Given the description of an element on the screen output the (x, y) to click on. 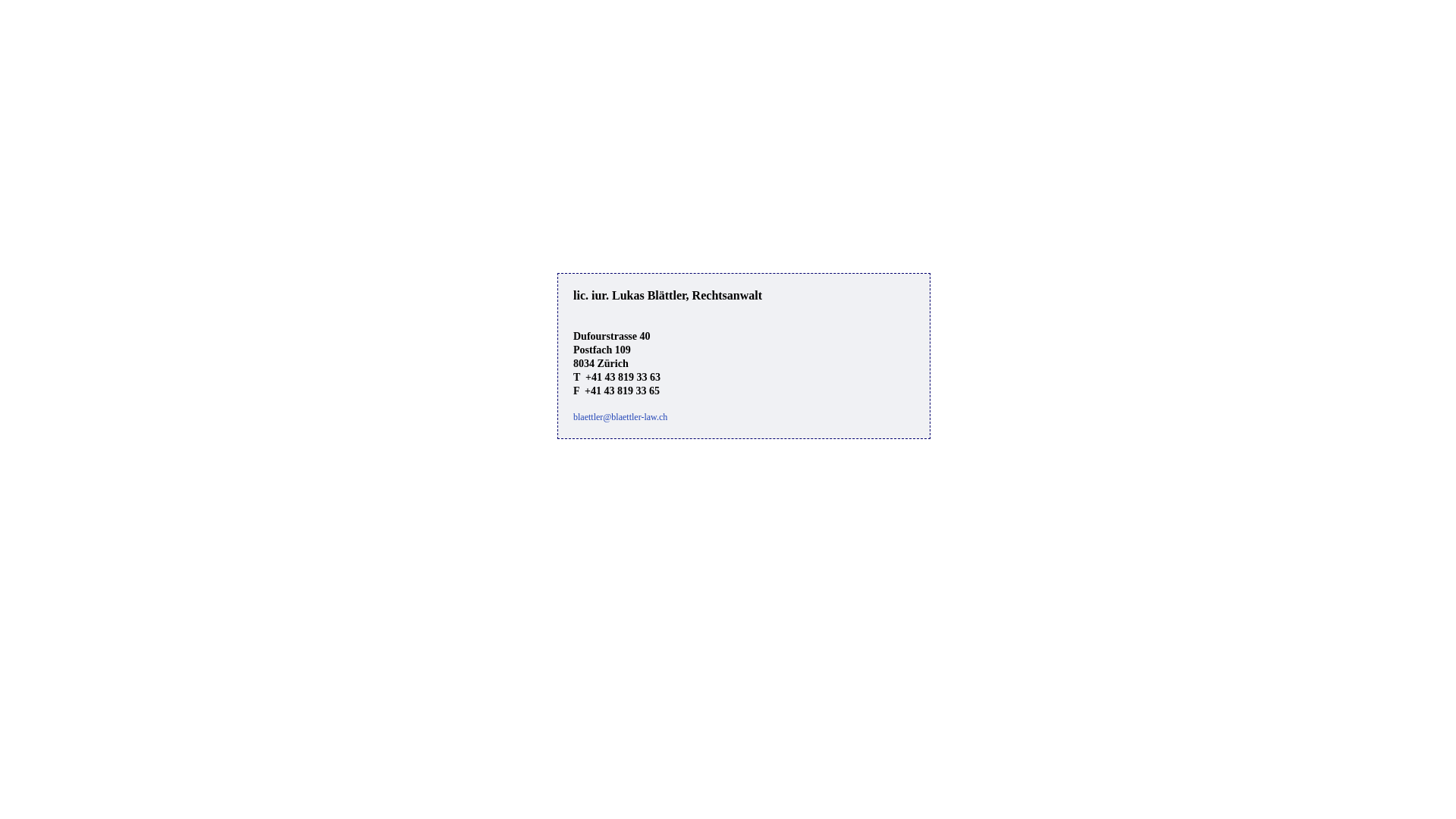
blaettler@blaettler-law.ch Element type: text (620, 416)
